Given the description of an element on the screen output the (x, y) to click on. 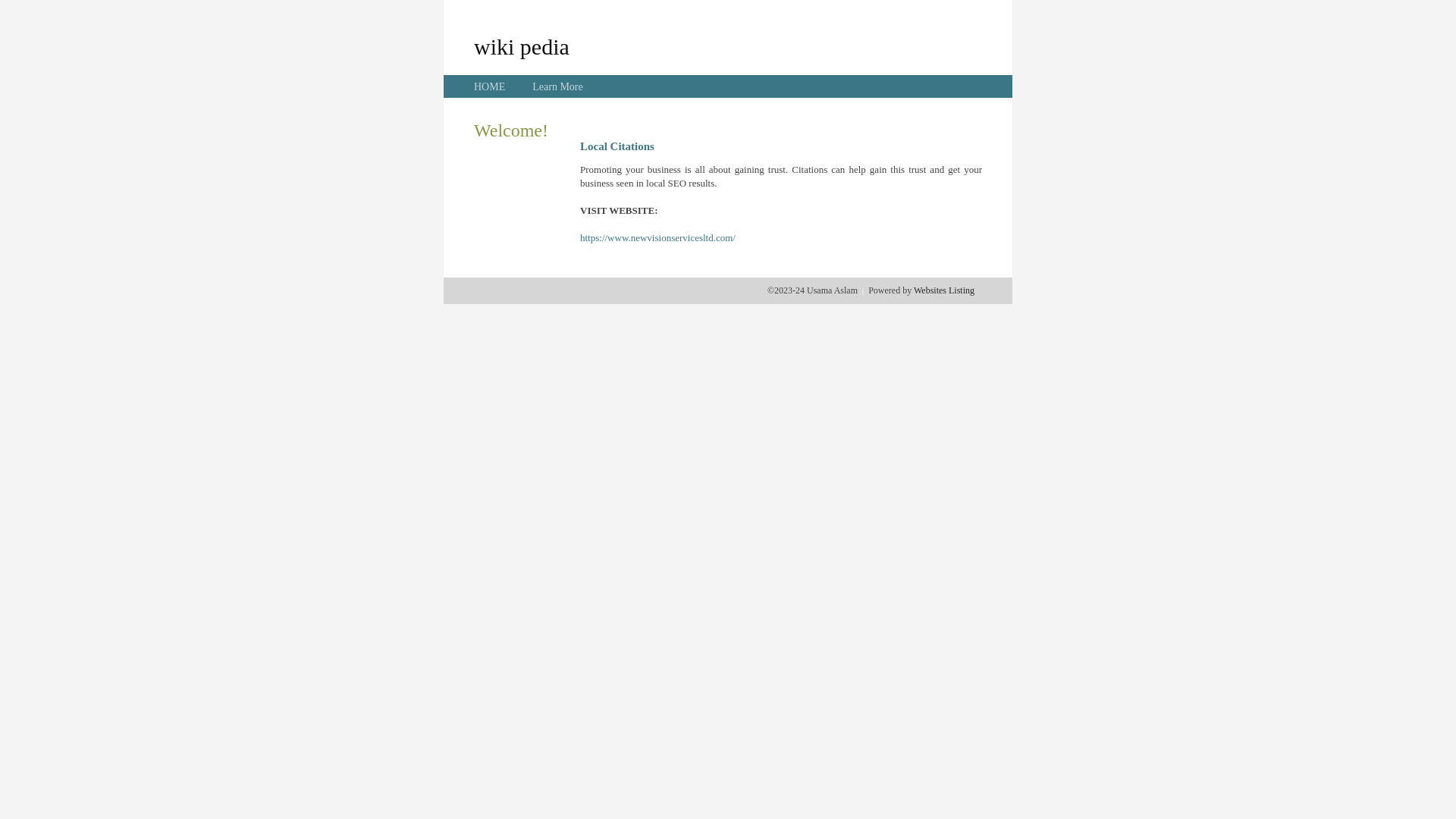
Websites Listing Element type: text (943, 290)
Learn More Element type: text (557, 86)
HOME Element type: text (489, 86)
wiki pedia Element type: text (521, 46)
https://www.newvisionservicesltd.com/ Element type: text (657, 237)
